Given the description of an element on the screen output the (x, y) to click on. 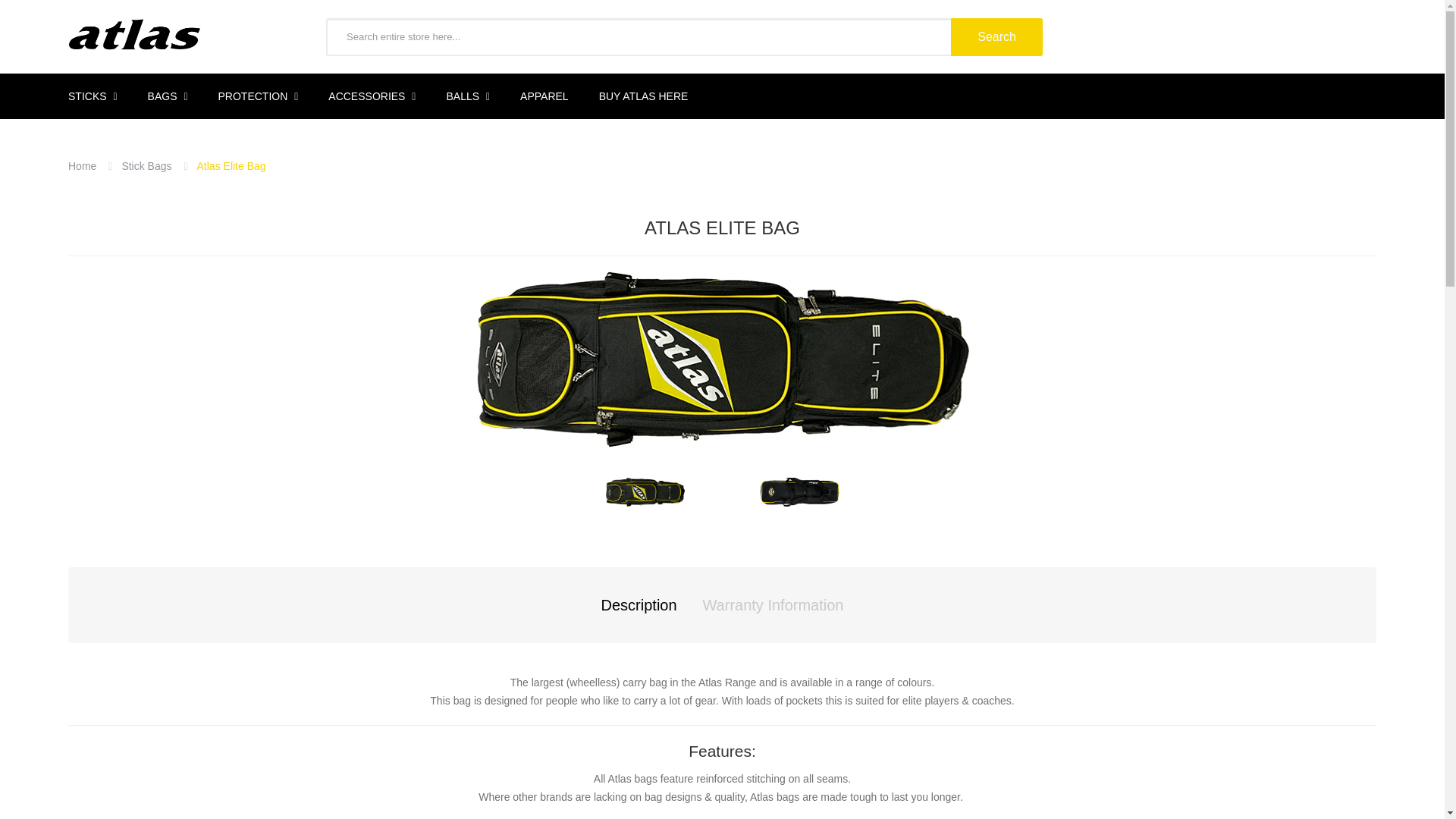
Atlas Elite Bag (799, 491)
PROTECTION (258, 95)
STICKS (100, 95)
Atlas Elite Bag (645, 491)
ACCESSORIES (371, 95)
Atlas Elite Bag (645, 491)
Atlas Elite Bag (799, 491)
BALLS (467, 95)
BUY ATLAS HERE (643, 95)
APPAREL (544, 95)
Back to the frontpage (82, 165)
Search (996, 37)
BAGS (167, 95)
Atlas Elite Bag (721, 359)
